Given the description of an element on the screen output the (x, y) to click on. 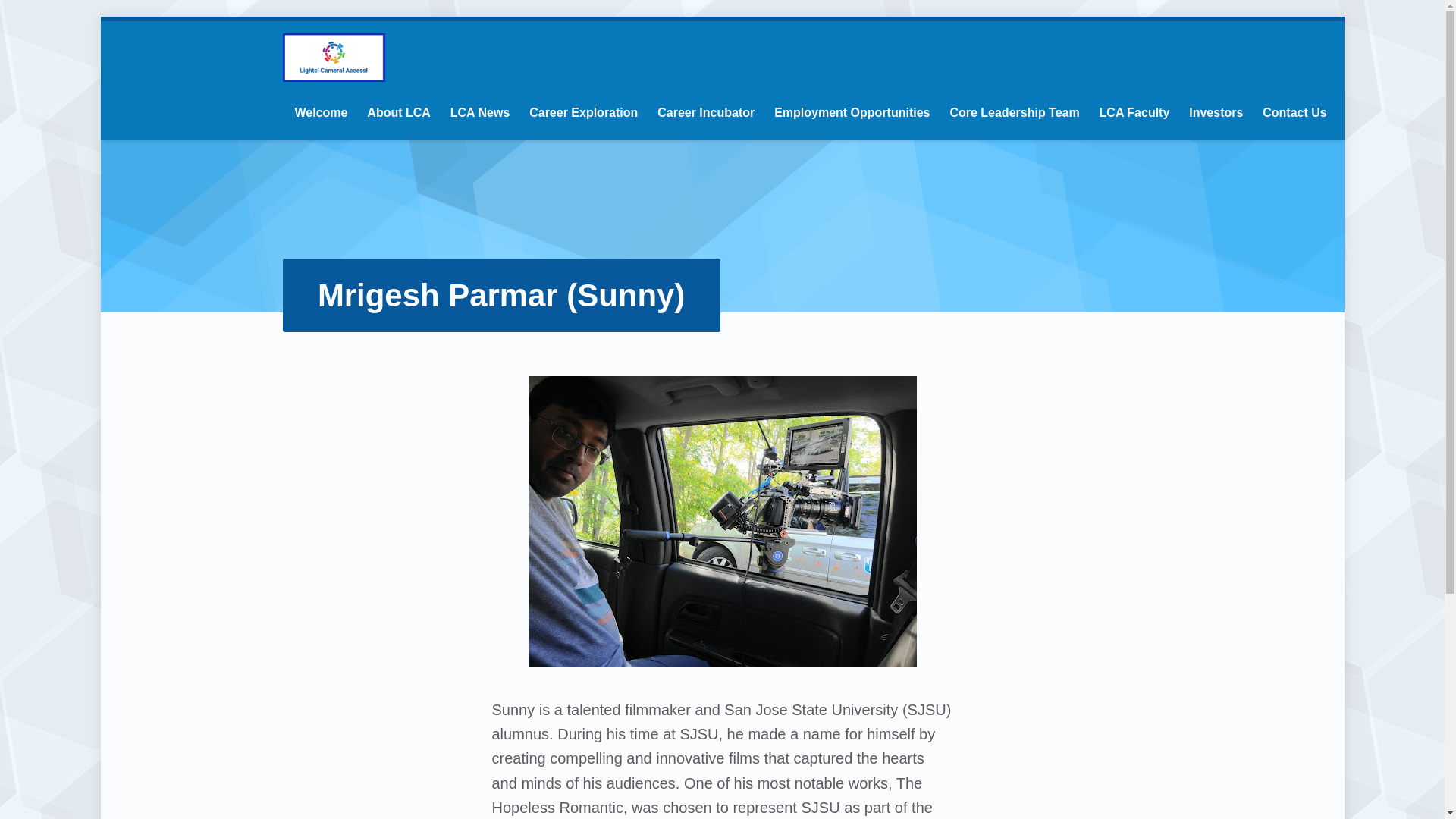
Contact Us (1294, 112)
Core Leadership Team (1013, 112)
LCA News (480, 112)
LCA Faculty (1134, 112)
Career Incubator (706, 112)
Career Exploration (583, 112)
Investors (1216, 112)
About LCA (398, 112)
Sunny (721, 521)
Employment Opportunities (852, 112)
